Given the description of an element on the screen output the (x, y) to click on. 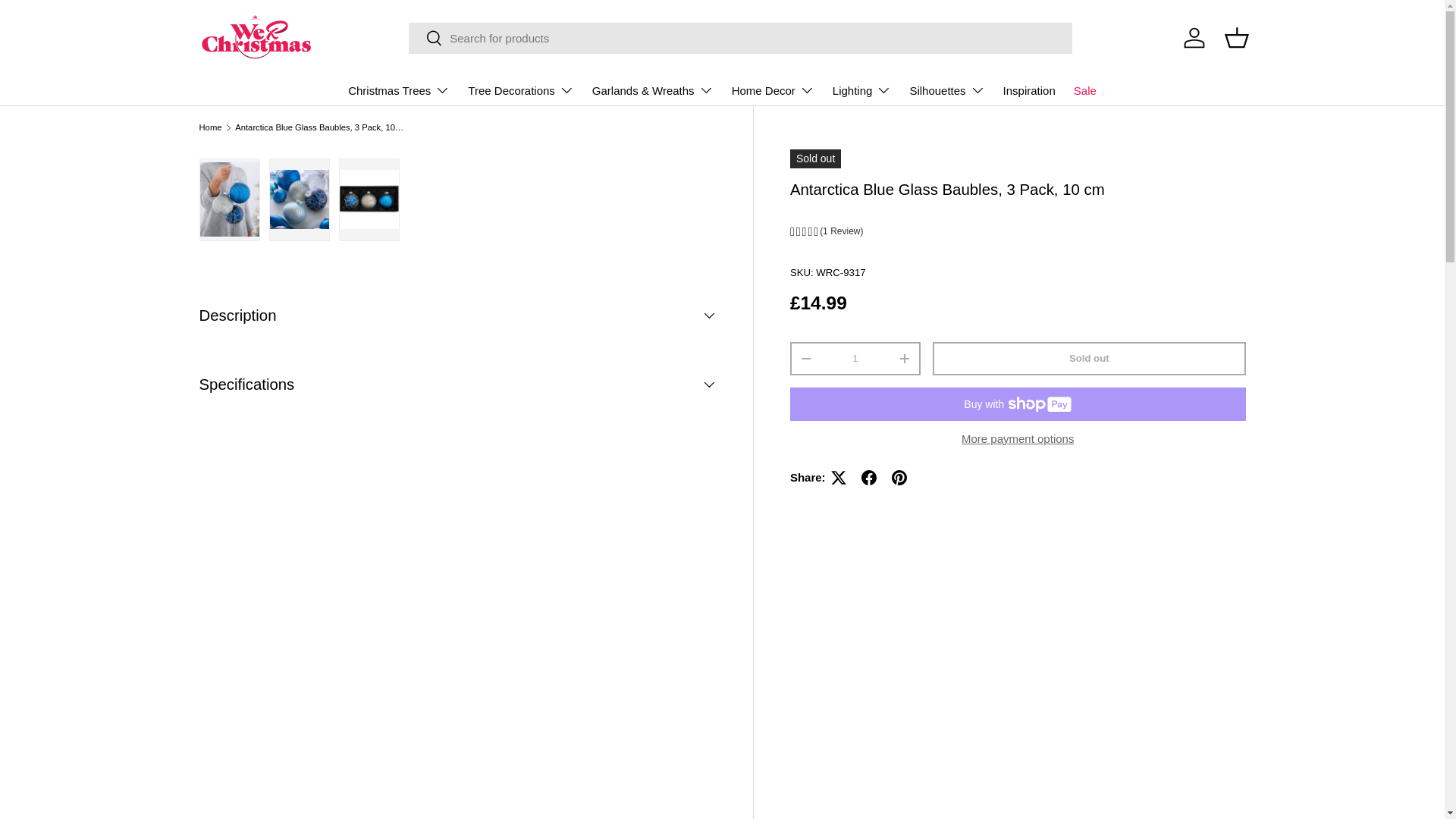
Search (425, 38)
5 Star - 1 Review (1018, 231)
Log in (1192, 37)
Tree Decorations (520, 90)
Basket (1236, 37)
Christmas Trees (398, 90)
1 (855, 358)
Skip to content (69, 21)
Tweet on X (838, 477)
Pin on Pinterest (898, 477)
Share on Facebook (868, 477)
